Given the description of an element on the screen output the (x, y) to click on. 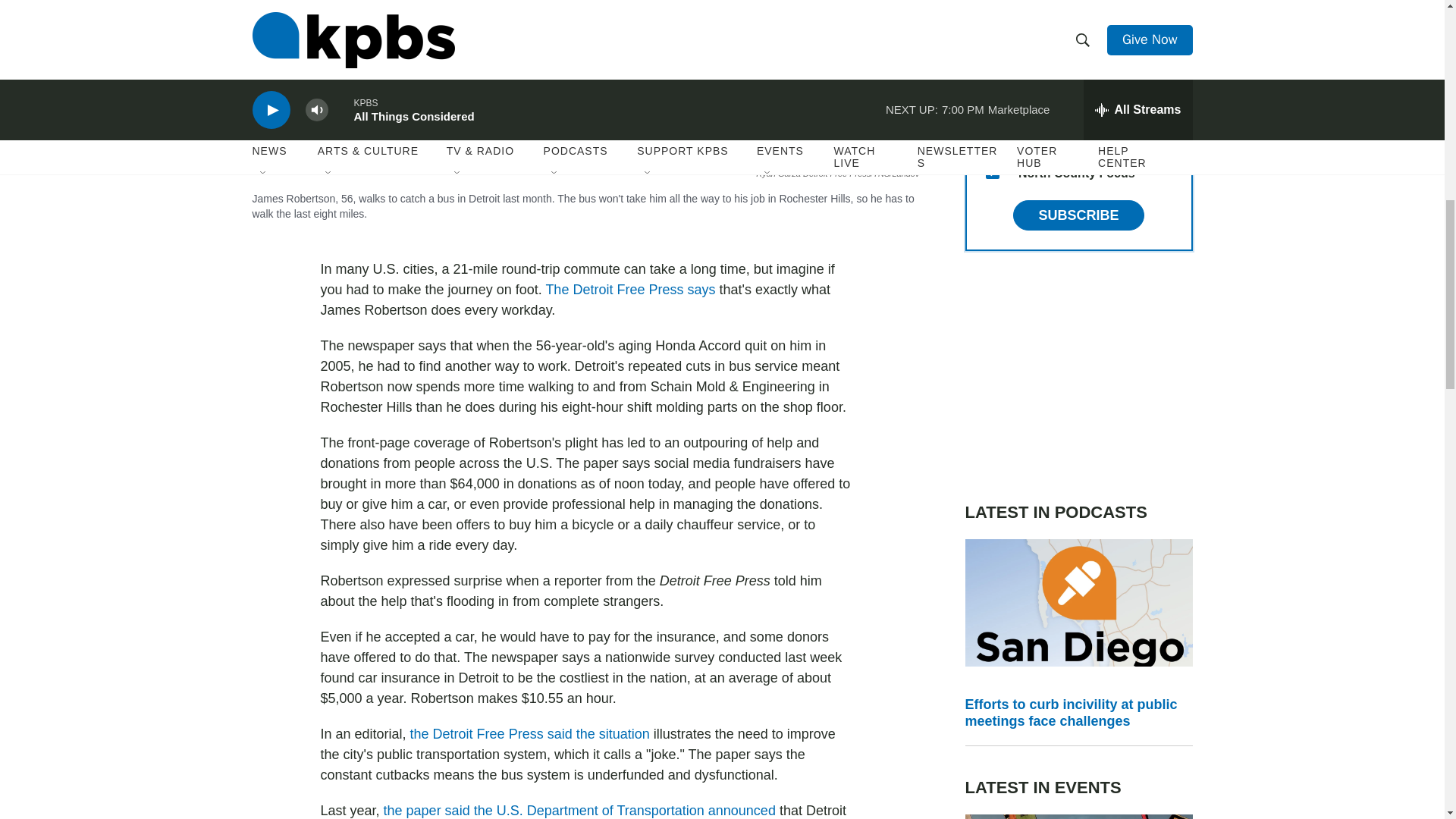
2 (991, 62)
15 (991, 172)
1 (991, 99)
6 (991, 26)
8 (991, 135)
